Given the description of an element on the screen output the (x, y) to click on. 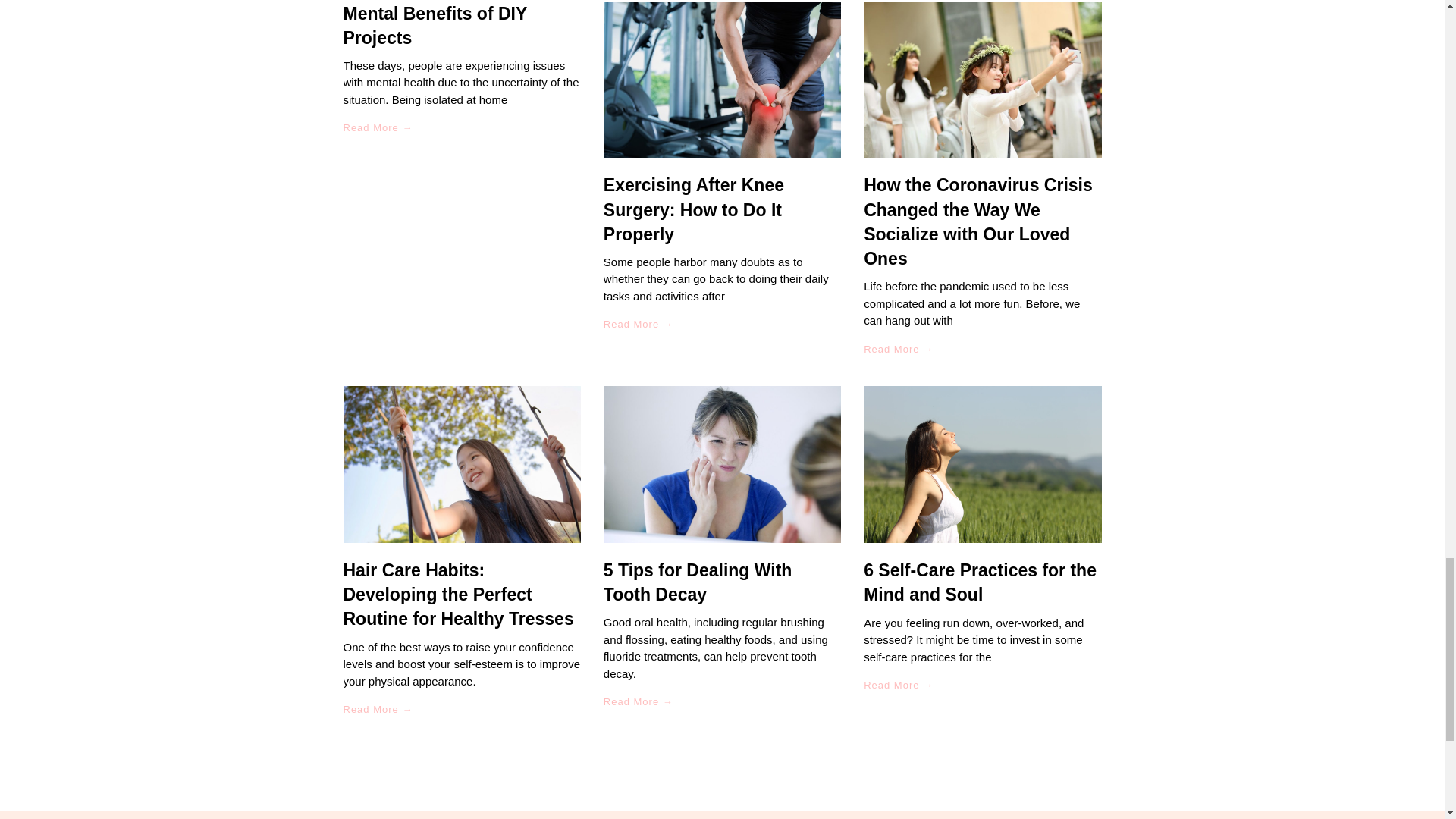
5 Tips for Dealing With Tooth Decay (698, 582)
6 Self-Care Practices for the Mind and Soul (979, 582)
Exercising After Knee Surgery: How to Do It Properly (694, 209)
Mental Benefits of DIY Projects (433, 25)
